Given the description of an element on the screen output the (x, y) to click on. 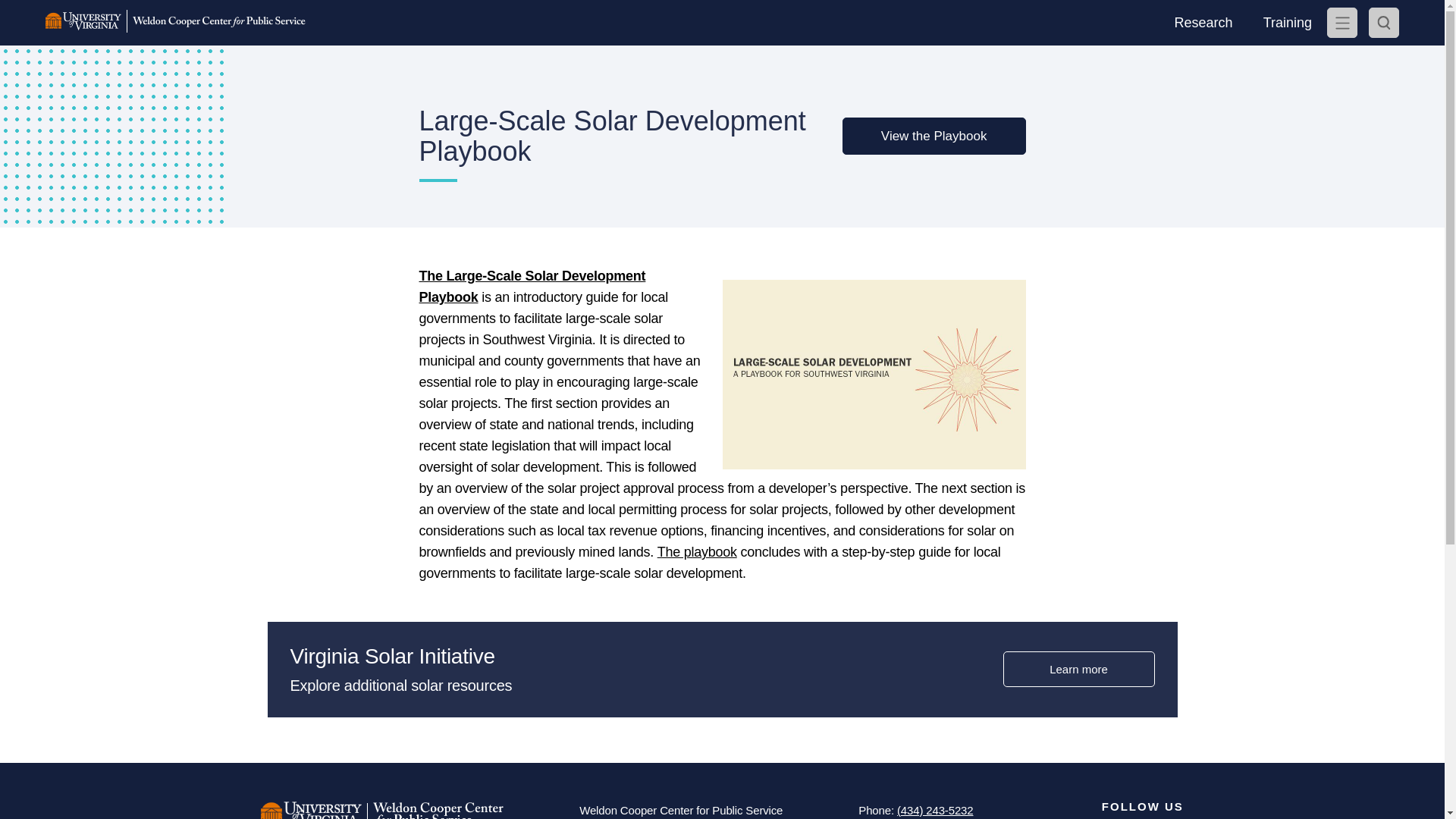
View the Playbook (934, 135)
The Large-Scale Solar Development Playbook (532, 286)
Research (1203, 22)
Learn more (1078, 669)
Training (1287, 22)
The playbook (697, 551)
